Given the description of an element on the screen output the (x, y) to click on. 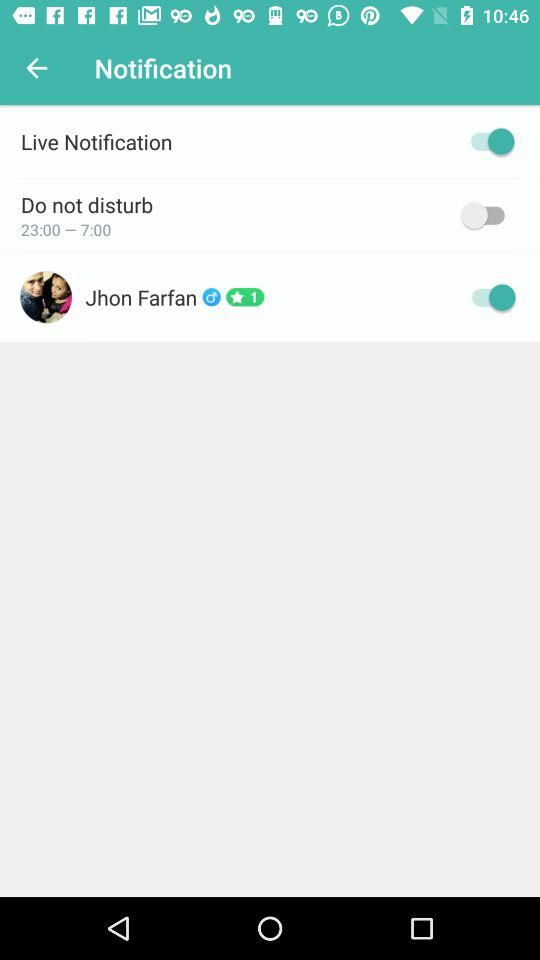
launch the item to the left of the notification (36, 68)
